Given the description of an element on the screen output the (x, y) to click on. 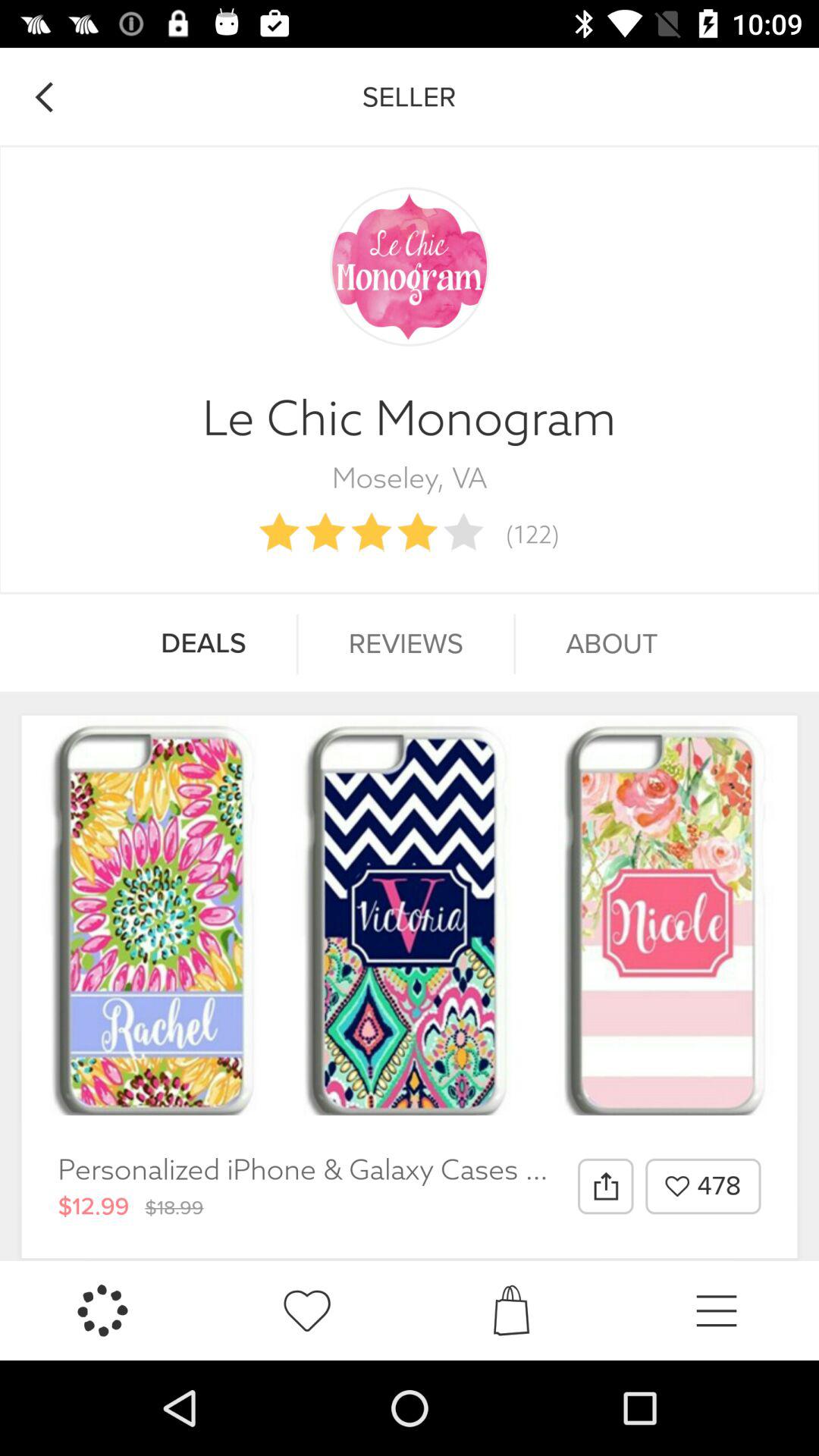
select item next to about (405, 643)
